Given the description of an element on the screen output the (x, y) to click on. 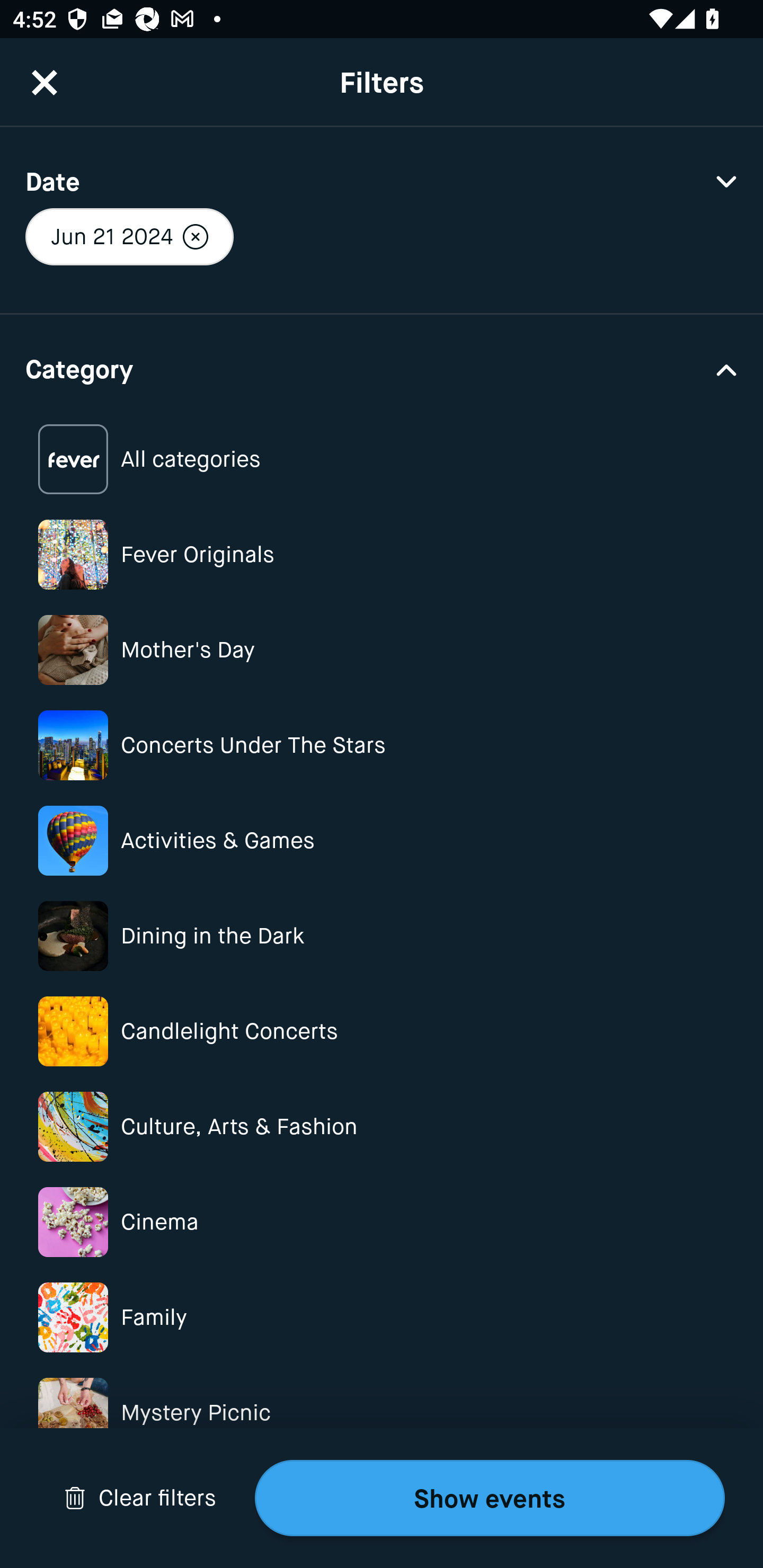
CloseButton (44, 82)
Jun 21 2024 Localized description (129, 236)
Category Drop Down Arrow (381, 368)
Category Image All categories (381, 459)
Category Image Fever Originals (381, 553)
Category Image Mother's Day (381, 649)
Category Image Concerts Under The Stars (381, 745)
Category Image Activities & Games (381, 840)
Category Image Dining in the Dark (381, 935)
Category Image Candlelight Concerts (381, 1030)
Category Image Culture, Arts & Fashion (381, 1126)
Category Image Cinema (381, 1221)
Category Image Family (381, 1317)
Category Image Mystery Picnic (381, 1412)
Drop Down Arrow Clear filters (139, 1497)
Show events (489, 1497)
